Given the description of an element on the screen output the (x, y) to click on. 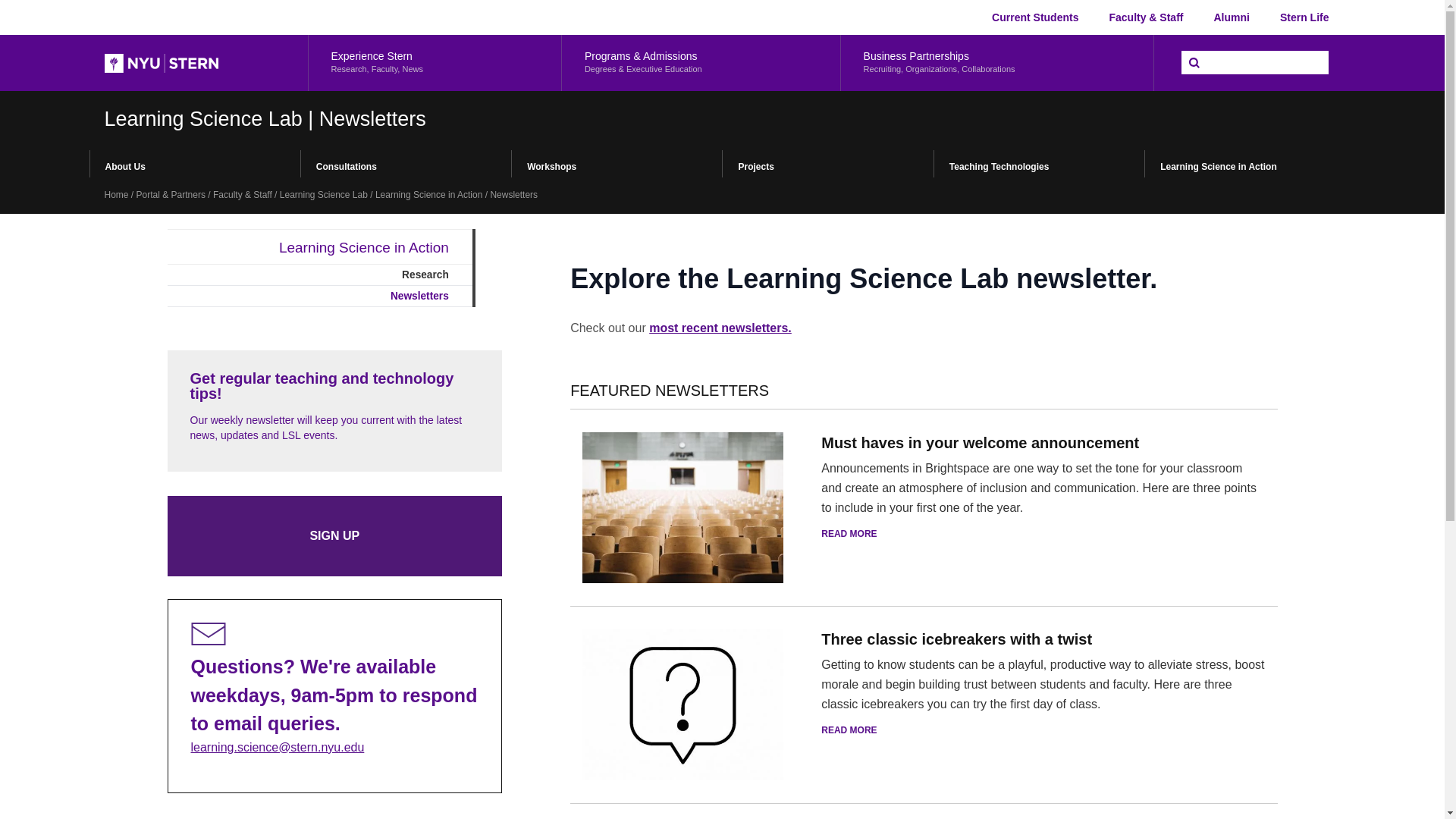
Stern Life (1304, 17)
Alumni (433, 62)
Current Students (1230, 17)
